Given the description of an element on the screen output the (x, y) to click on. 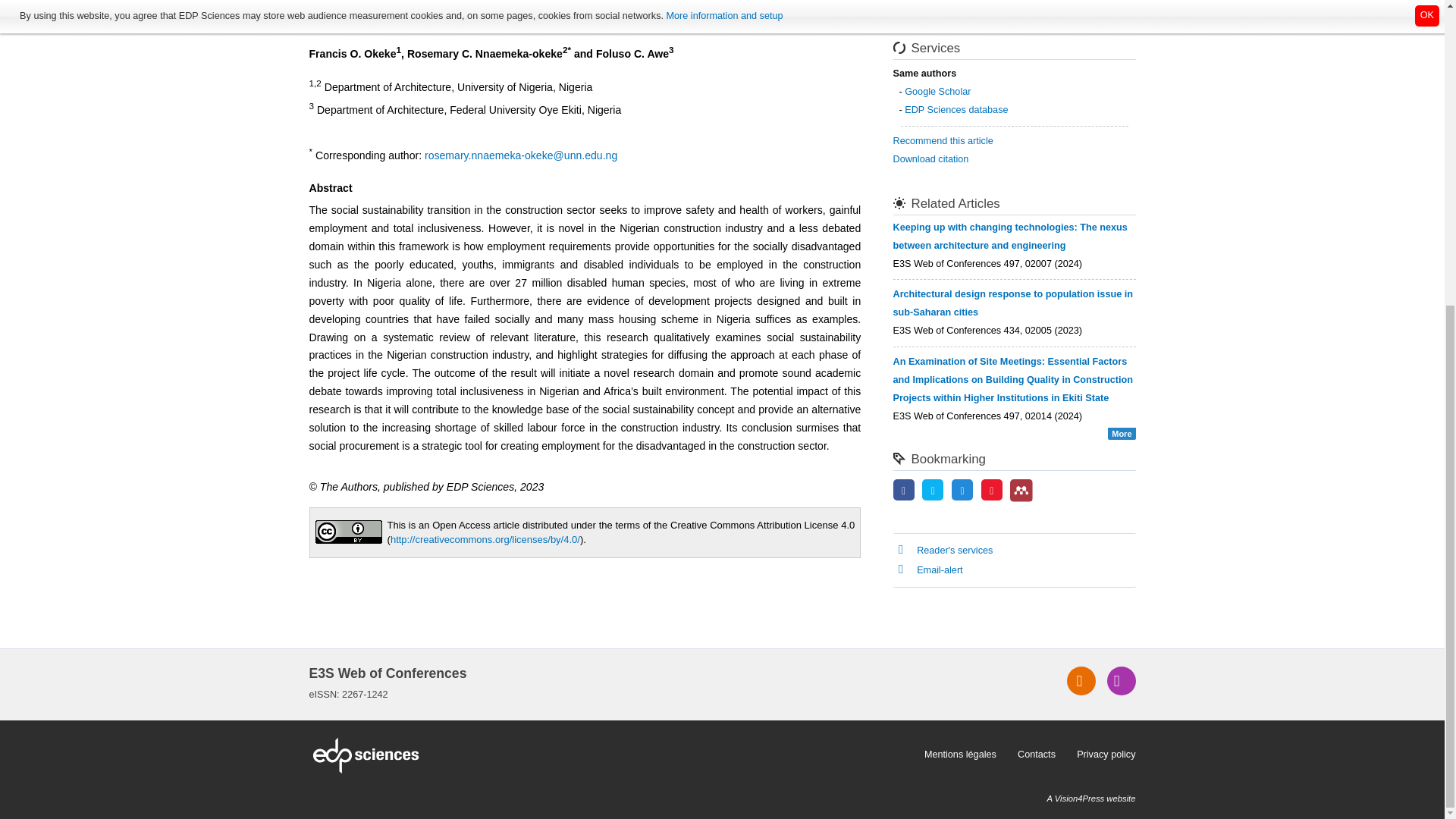
Mendeley (1021, 490)
